Given the description of an element on the screen output the (x, y) to click on. 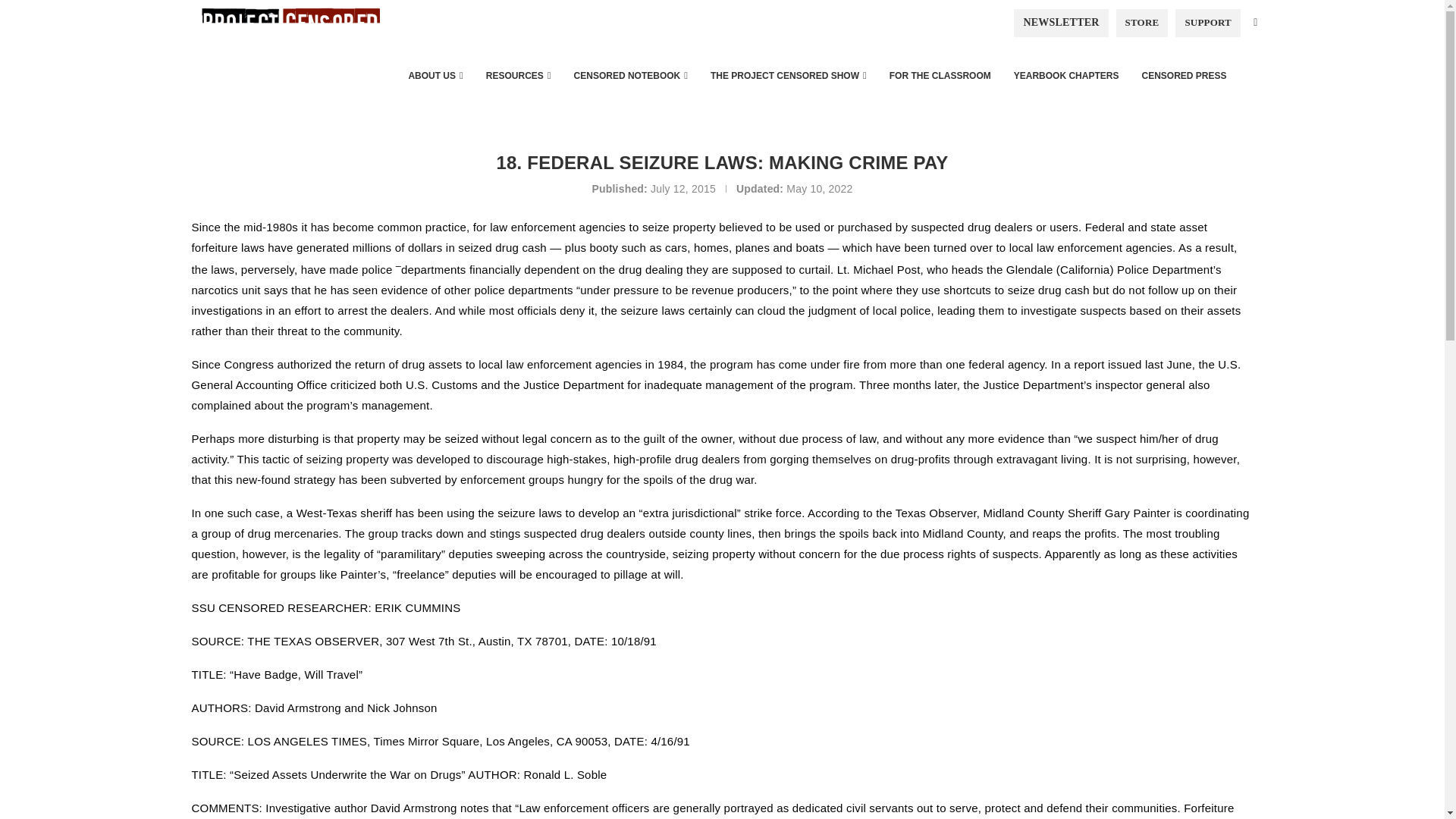
SUPPORT (1207, 22)
RESOURCES (518, 75)
ABOUT US (435, 75)
NEWSLETTER (1060, 22)
STORE (1142, 22)
